Given the description of an element on the screen output the (x, y) to click on. 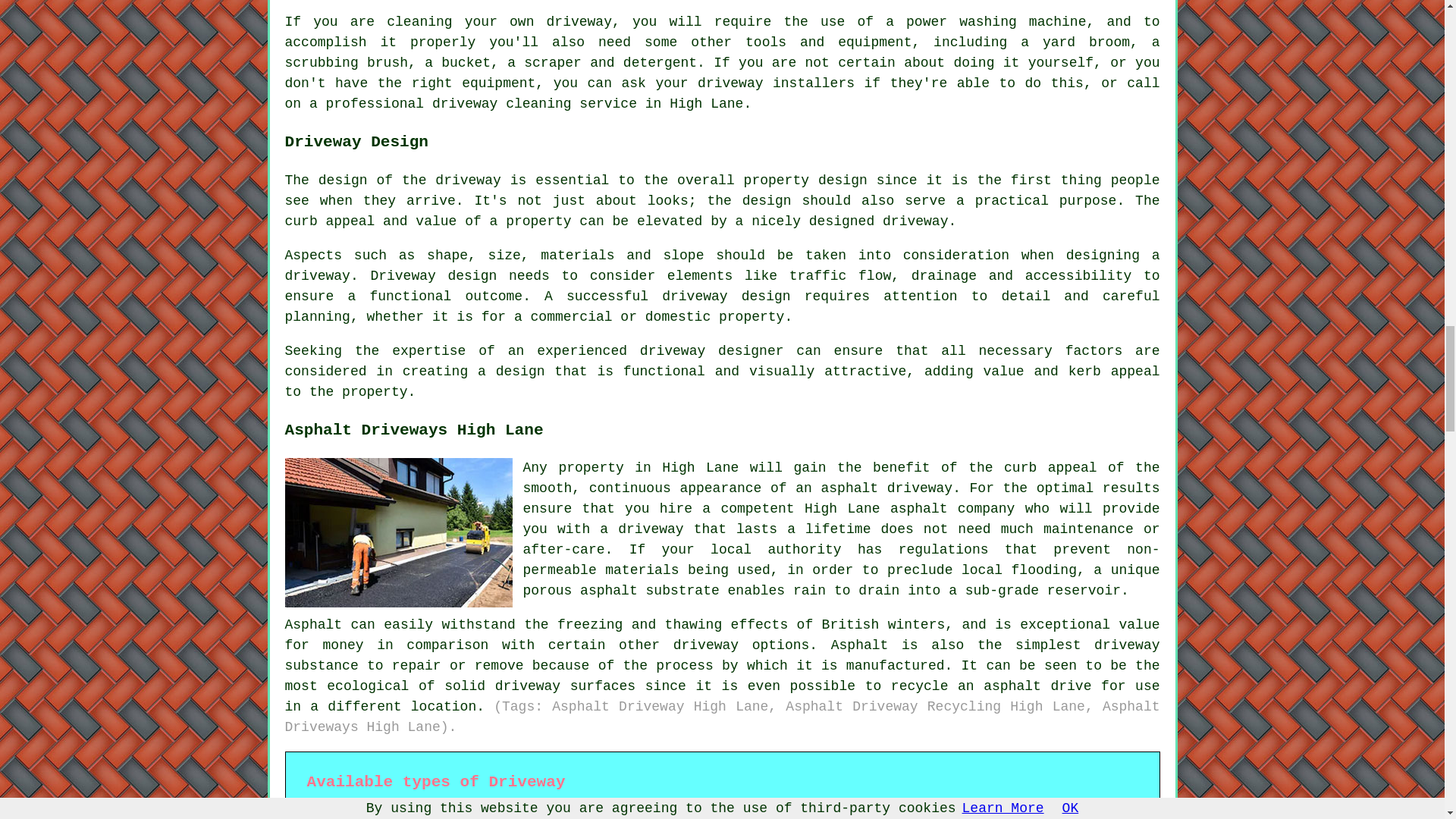
Asphalt Driveways High Lane UK (398, 532)
Driveway design (432, 275)
